Given the description of an element on the screen output the (x, y) to click on. 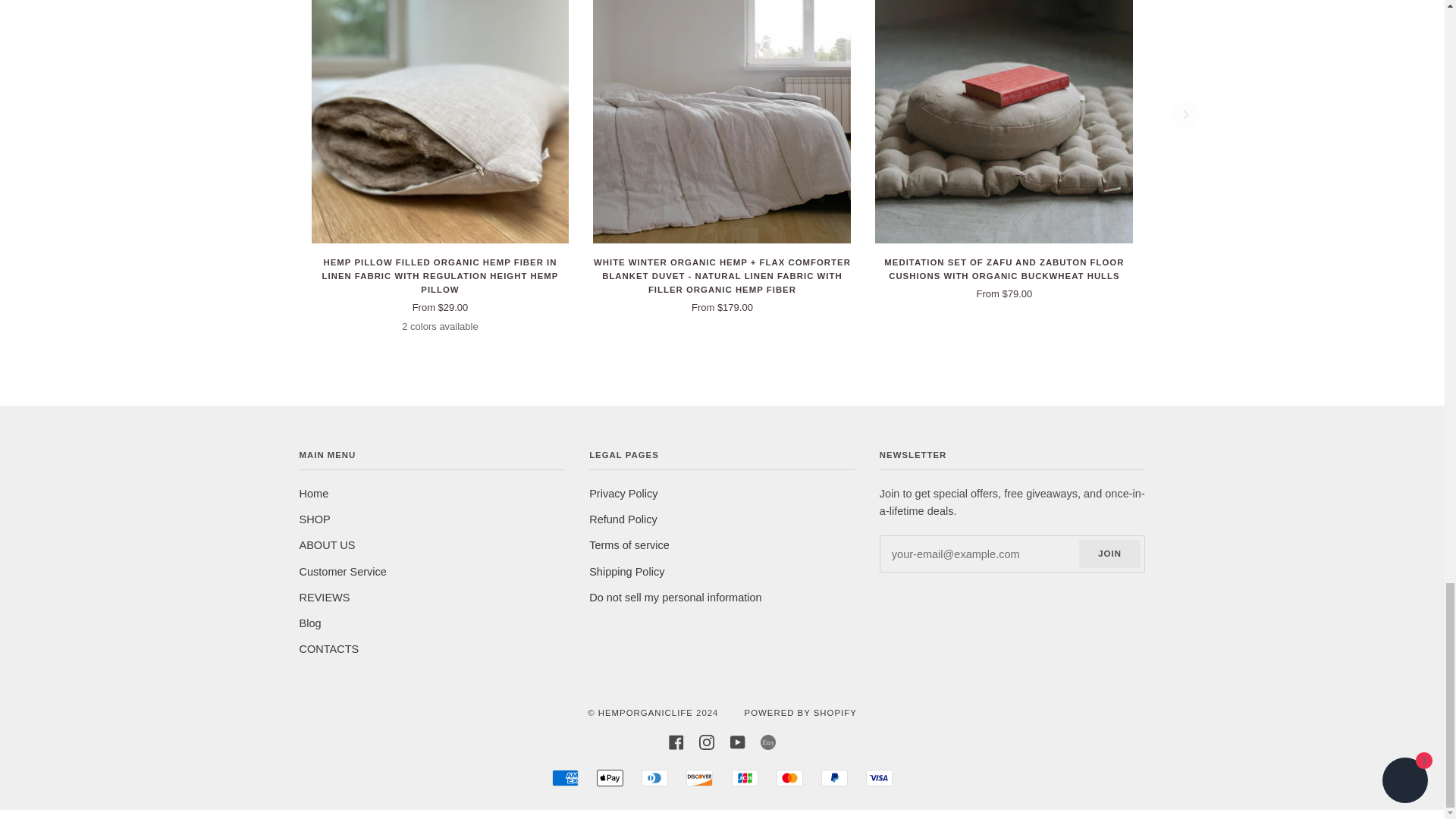
APPLE PAY (609, 777)
DINERS CLUB (655, 777)
AMERICAN EXPRESS (564, 777)
DISCOVER (699, 777)
Facebook (676, 742)
PAYPAL (834, 777)
MASTERCARD (789, 777)
Instagram (706, 742)
JCB (745, 777)
YouTube (737, 742)
